Given the description of an element on the screen output the (x, y) to click on. 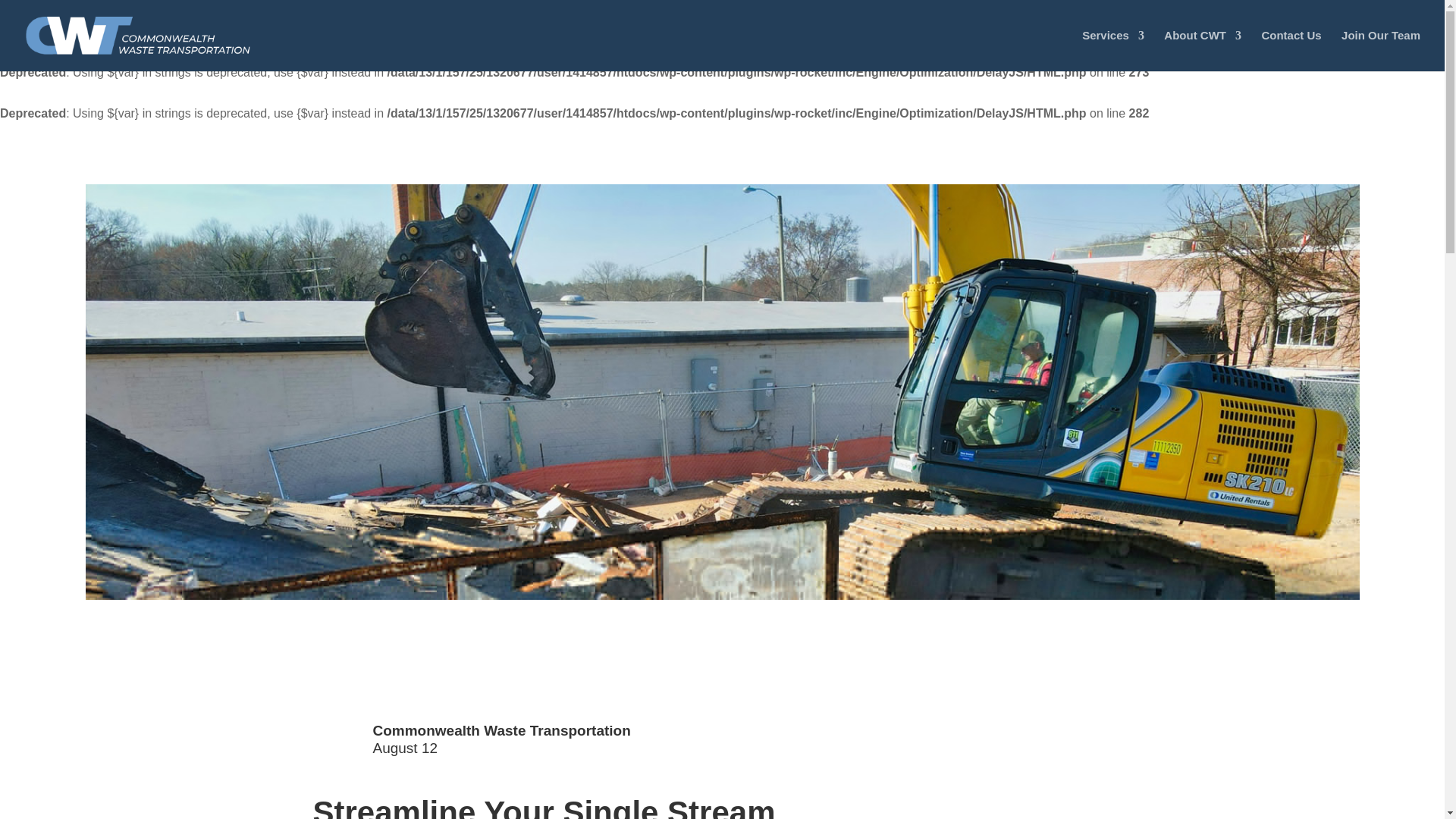
Join Our Team (1380, 50)
Services (1112, 50)
About CWT (1202, 50)
Contact Us (1290, 50)
